Given the description of an element on the screen output the (x, y) to click on. 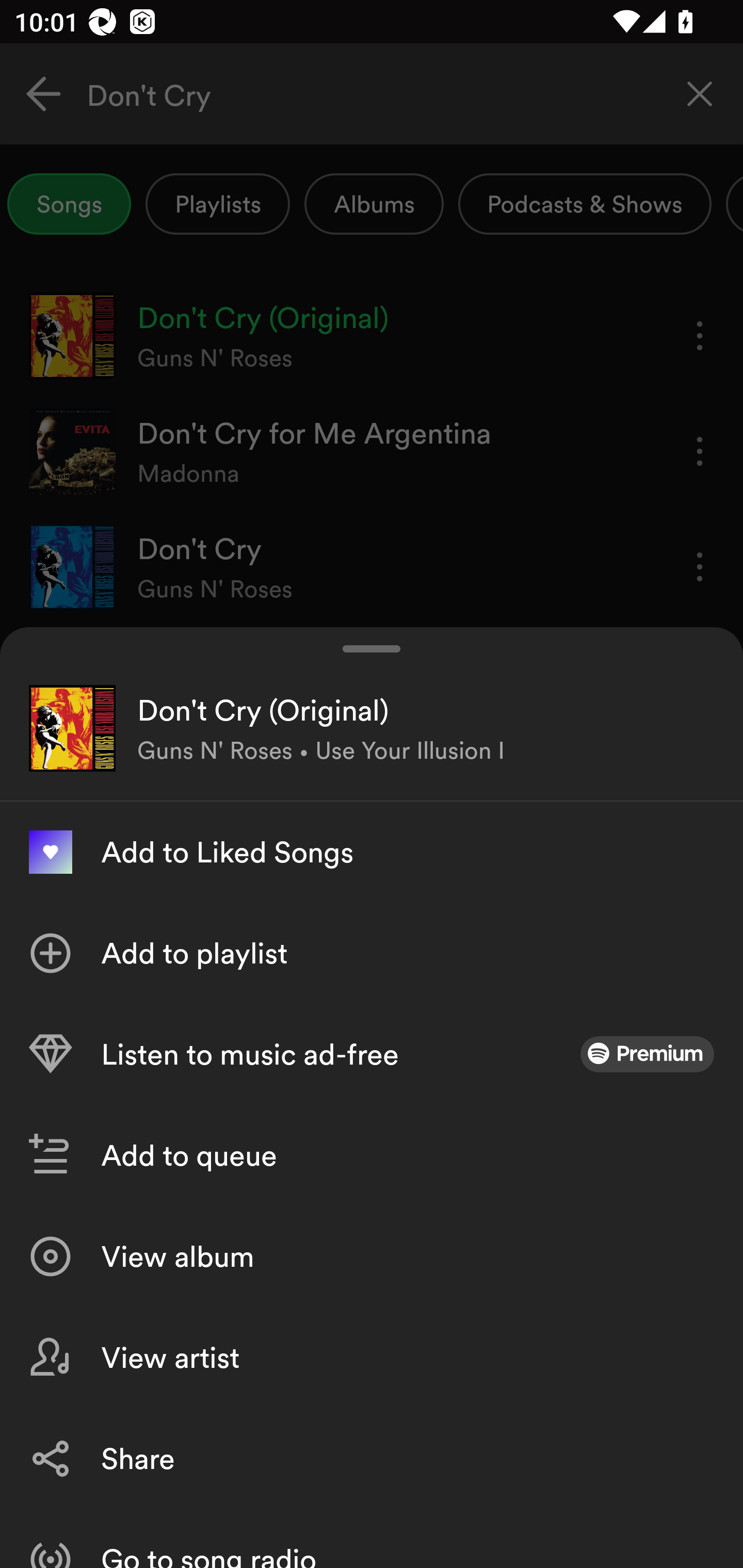
Add to Liked Songs (371, 852)
Add to playlist (371, 953)
Listen to music ad-free (371, 1054)
Add to queue (371, 1155)
View album (371, 1256)
View artist (371, 1357)
Share (371, 1458)
